Given the description of an element on the screen output the (x, y) to click on. 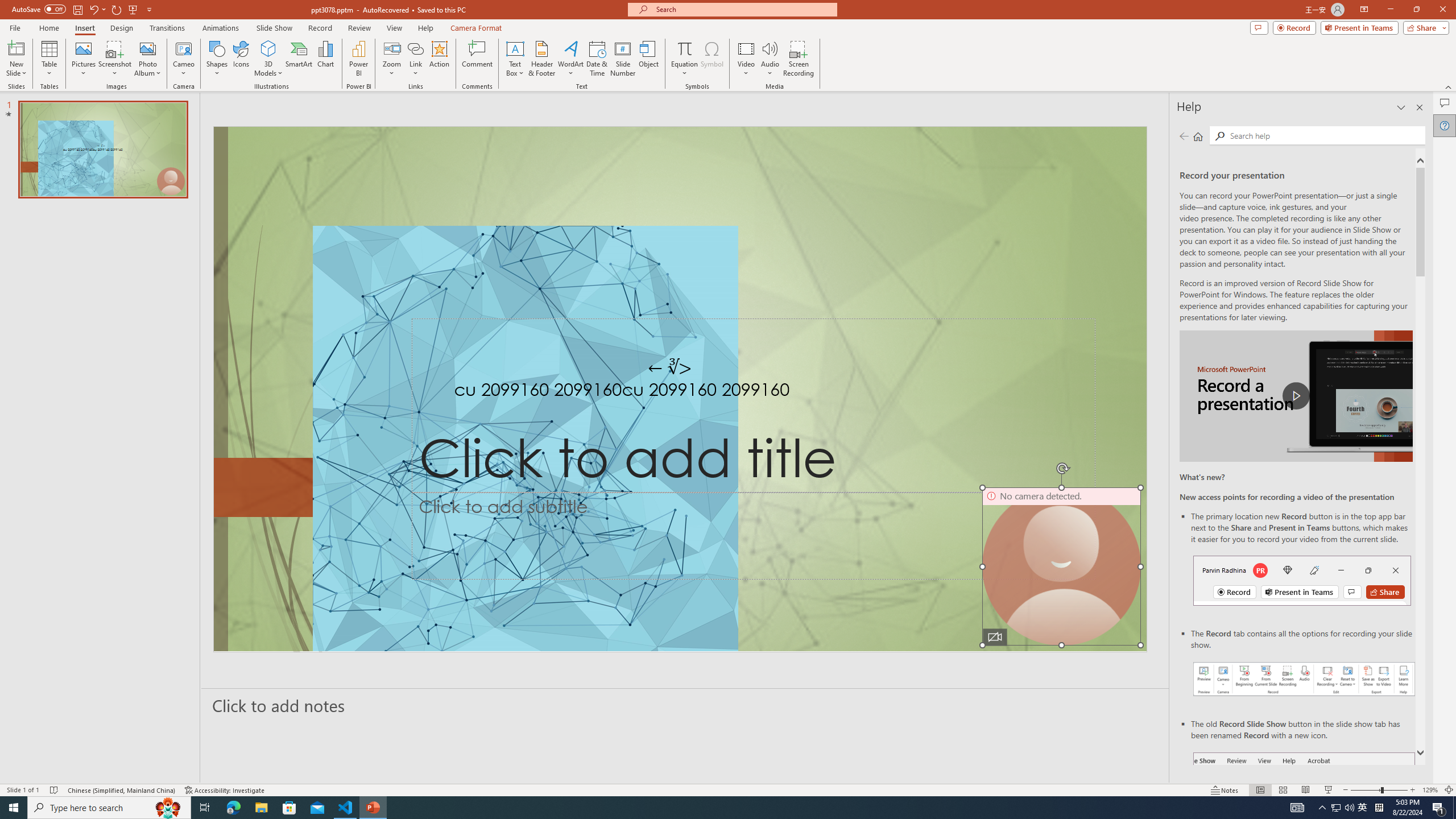
Link (415, 48)
Camera Format (475, 28)
New Photo Album... (147, 48)
Slide Number (622, 58)
Action (439, 58)
